Given the description of an element on the screen output the (x, y) to click on. 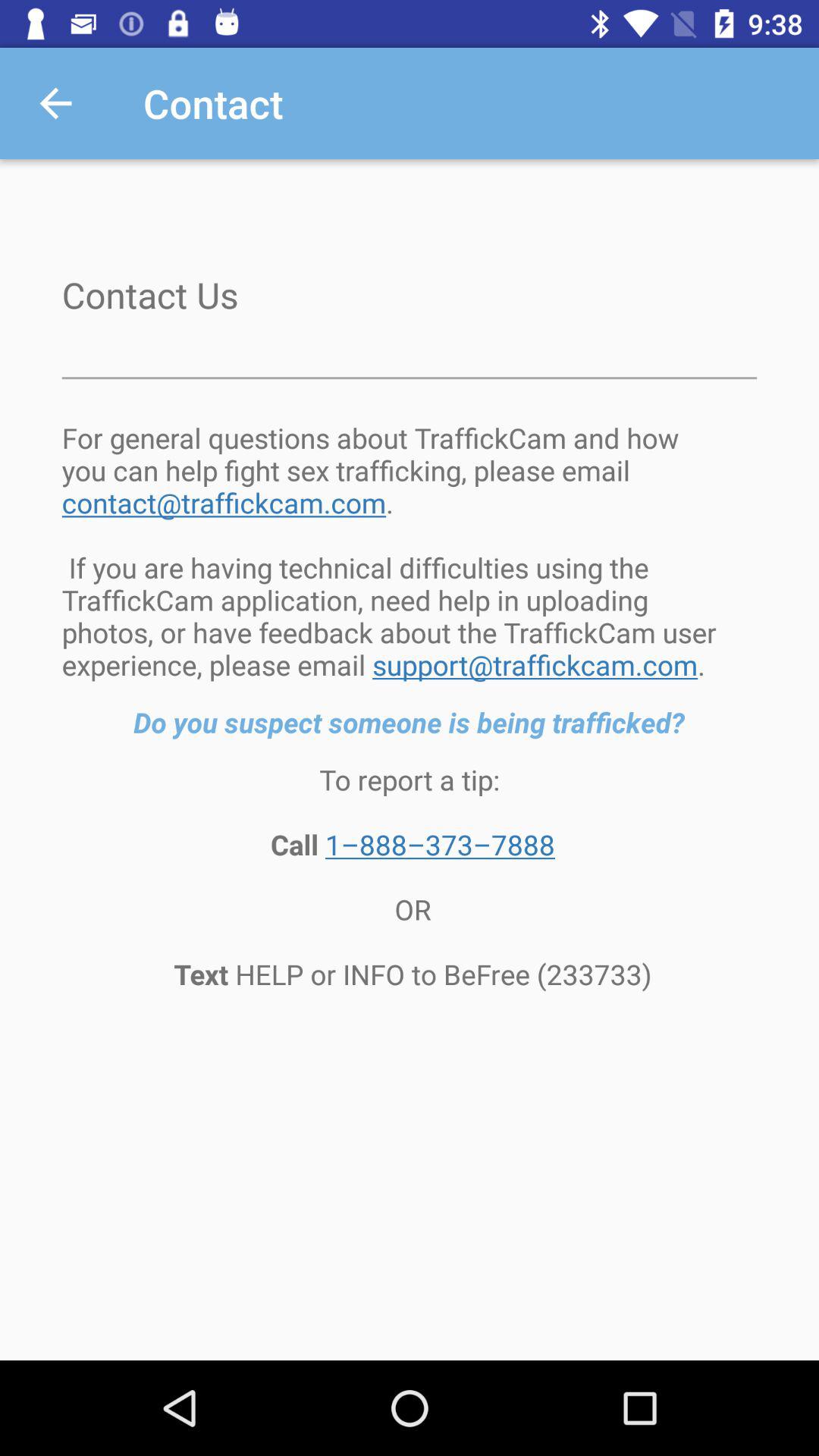
press the item below the do you suspect (409, 876)
